Given the description of an element on the screen output the (x, y) to click on. 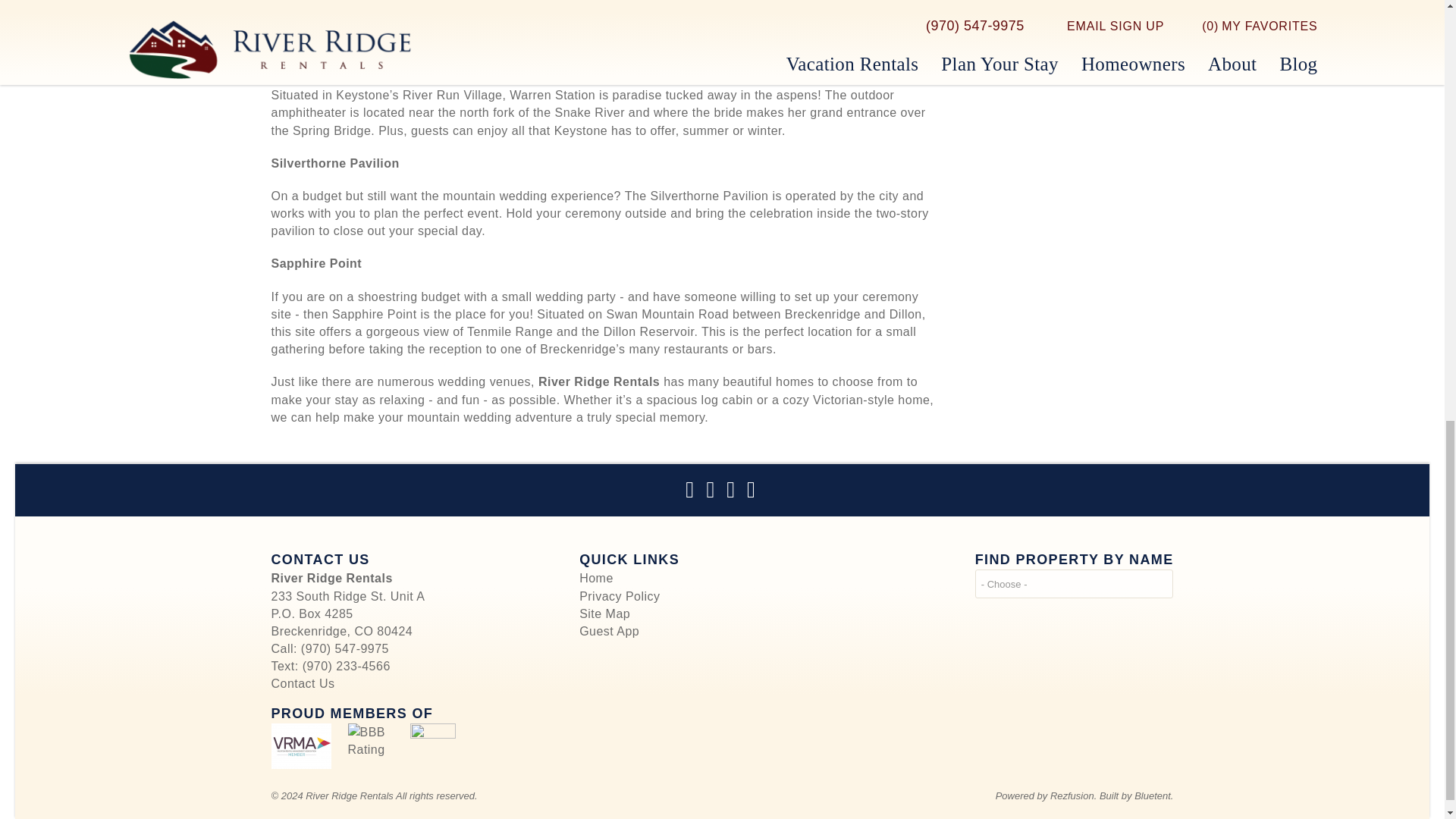
BBB Rating (370, 746)
Bluetent (431, 746)
